Given the description of an element on the screen output the (x, y) to click on. 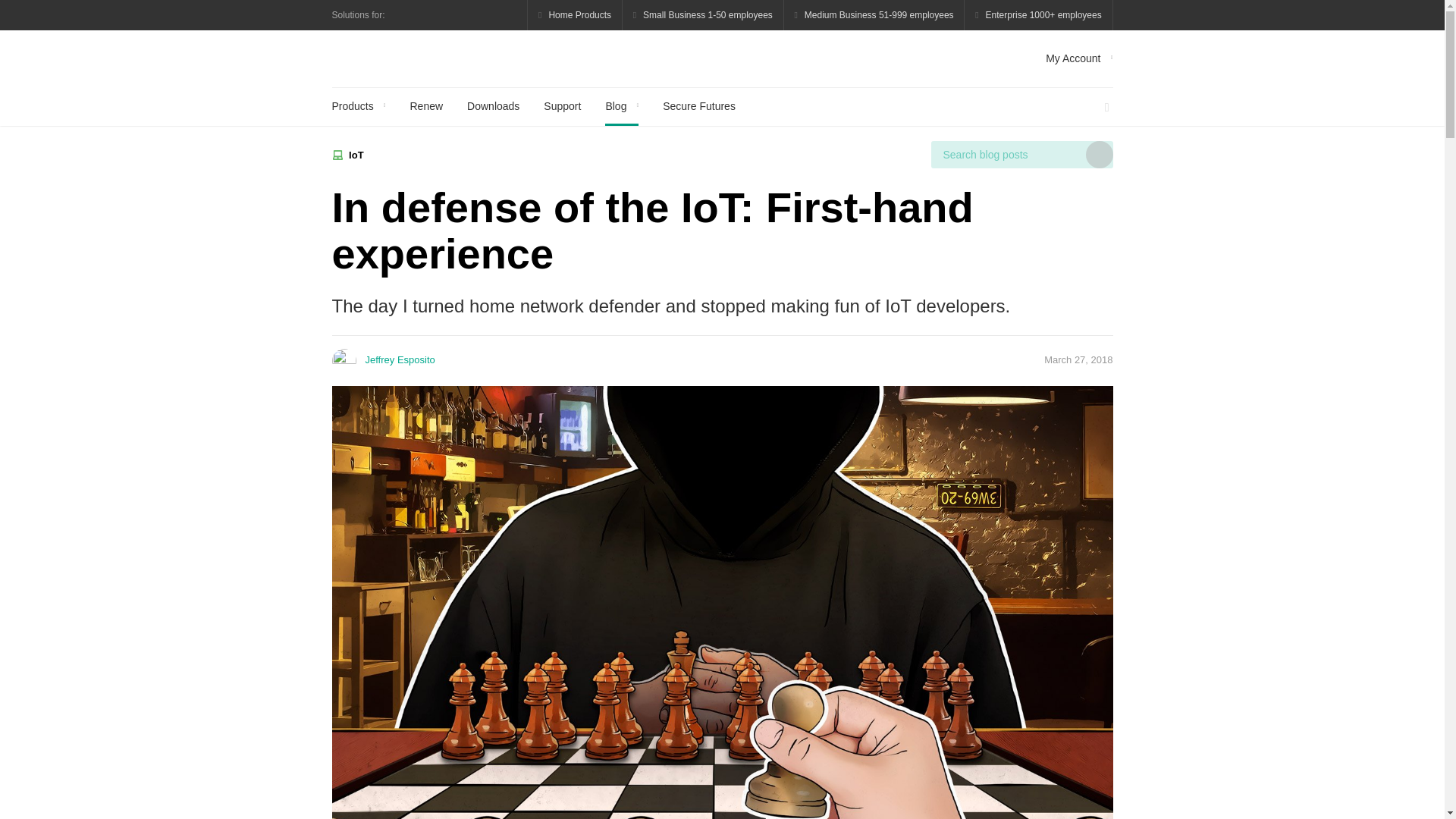
Downloads (493, 106)
Products (358, 106)
font-icons icon-small-business (703, 15)
My Account (1078, 58)
Kaspersky official blog (415, 58)
Small Business 1-50 employees (703, 15)
Medium Business 51-999 employees (874, 15)
Secure Futures (698, 106)
Support (561, 106)
Home Products (575, 15)
